Given the description of an element on the screen output the (x, y) to click on. 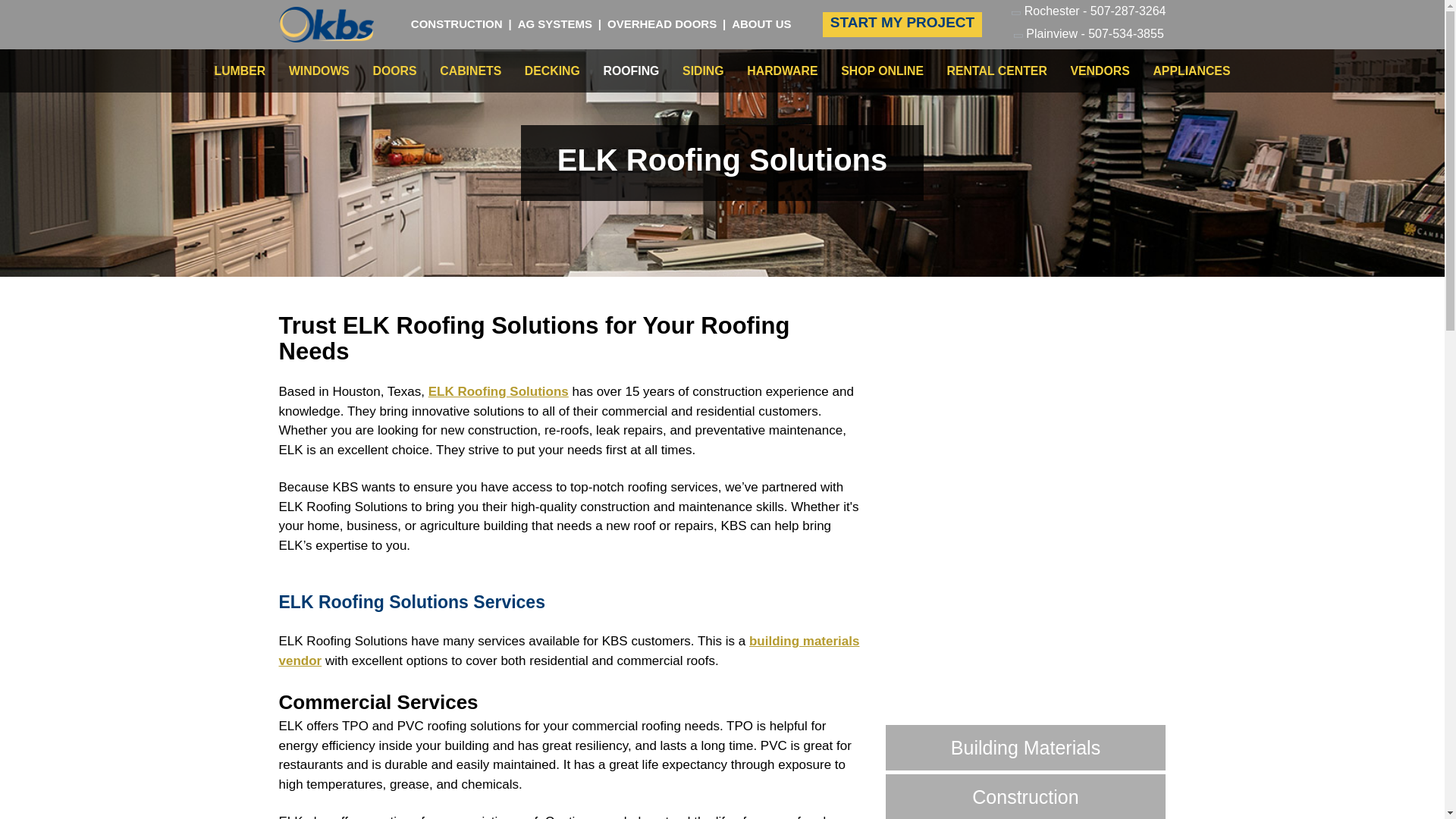
WINDOWS (318, 70)
Call us today! (1089, 12)
Lumber (239, 70)
Rochester - 507-287-3264 (1089, 12)
Overhead Doors (661, 23)
KBS Building Materials (326, 23)
Start my Project (901, 24)
AG Systems (555, 23)
OVERHEAD DOORS (661, 23)
AG SYSTEMS (555, 23)
